Given the description of an element on the screen output the (x, y) to click on. 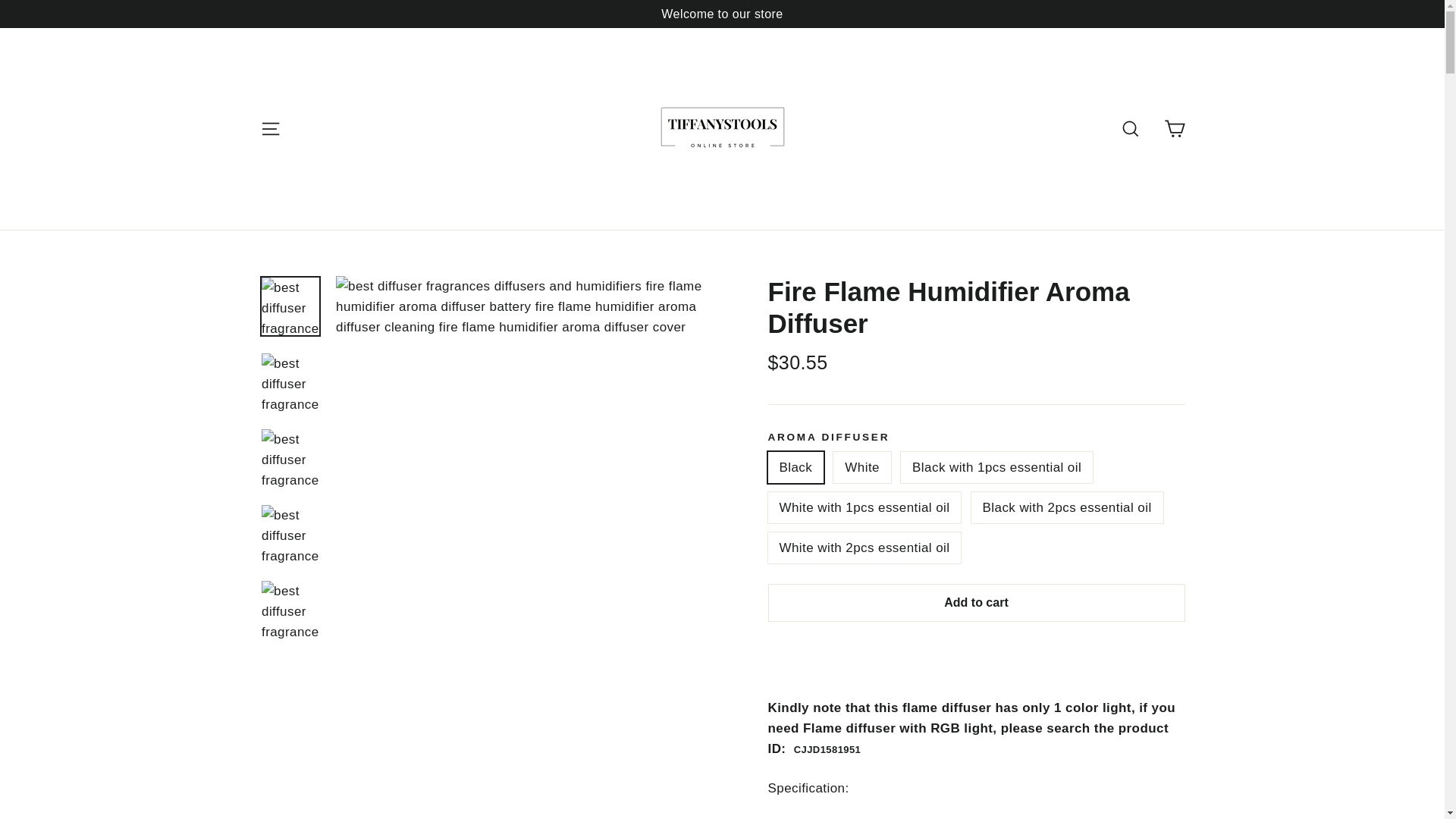
Search (1130, 128)
Cart (1173, 128)
Site navigation (269, 128)
